Given the description of an element on the screen output the (x, y) to click on. 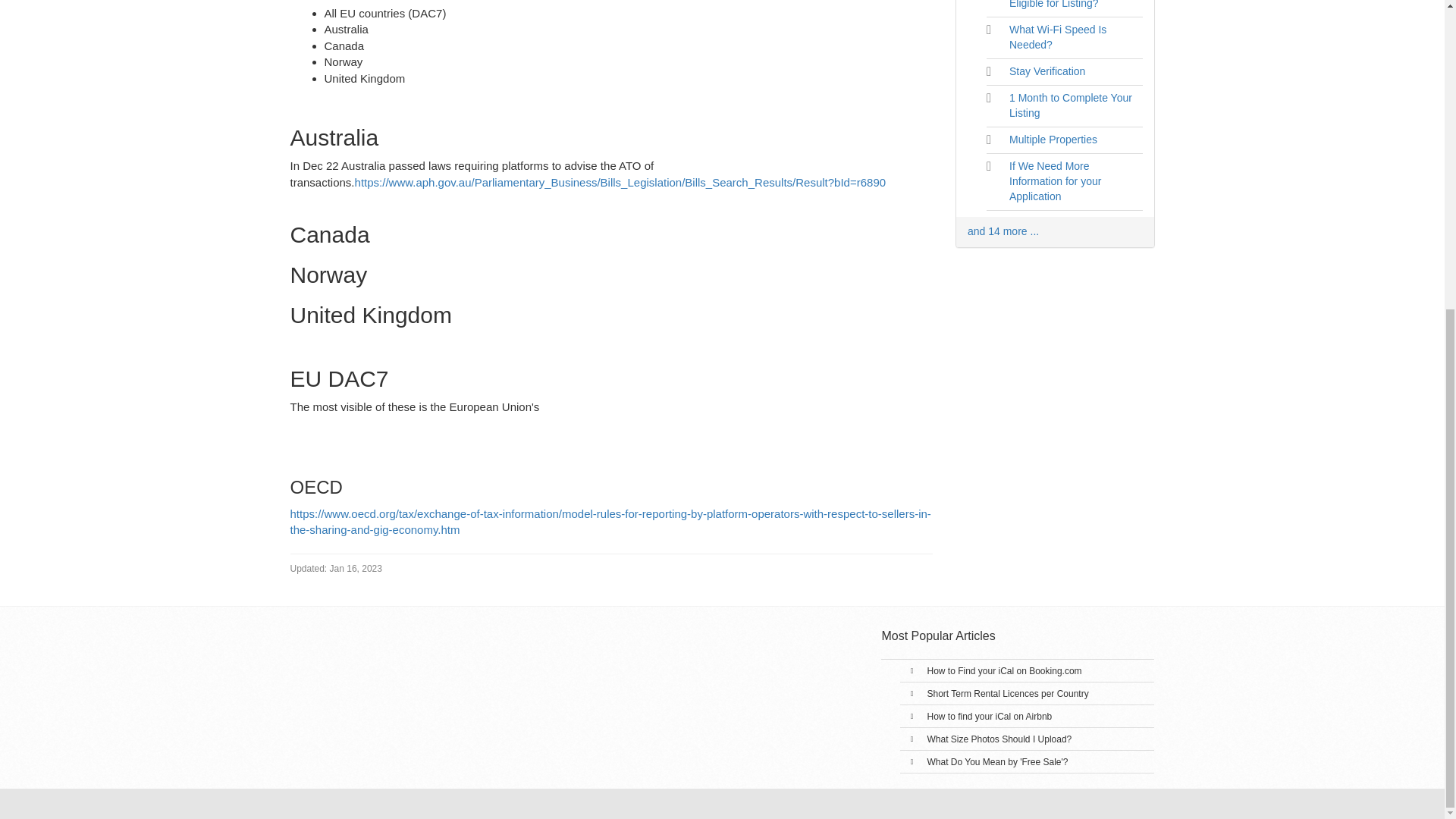
How to Find your iCal on Booking.com (1003, 670)
Stay Verification (1046, 70)
What Size Photos Should I Upload? (998, 738)
Short Term Rental Licences per Country (1006, 693)
Jan 16, 2023, 12:32 PM (335, 568)
If We Need More Information for your Application (1054, 180)
Stay Verification (1046, 70)
What Size Photos Should I Upload? (998, 738)
and 14 more ... (1003, 231)
If We Need More Information for your Application (1054, 180)
How to find your iCal on Airbnb (988, 716)
What Do You Mean by 'Free Sale'? (996, 761)
What Wi-Fi Speed Is Needed? (1057, 36)
What Do You Mean by 'Free Sale'? (996, 761)
Short Term Rental Licences per Country (1006, 693)
